Given the description of an element on the screen output the (x, y) to click on. 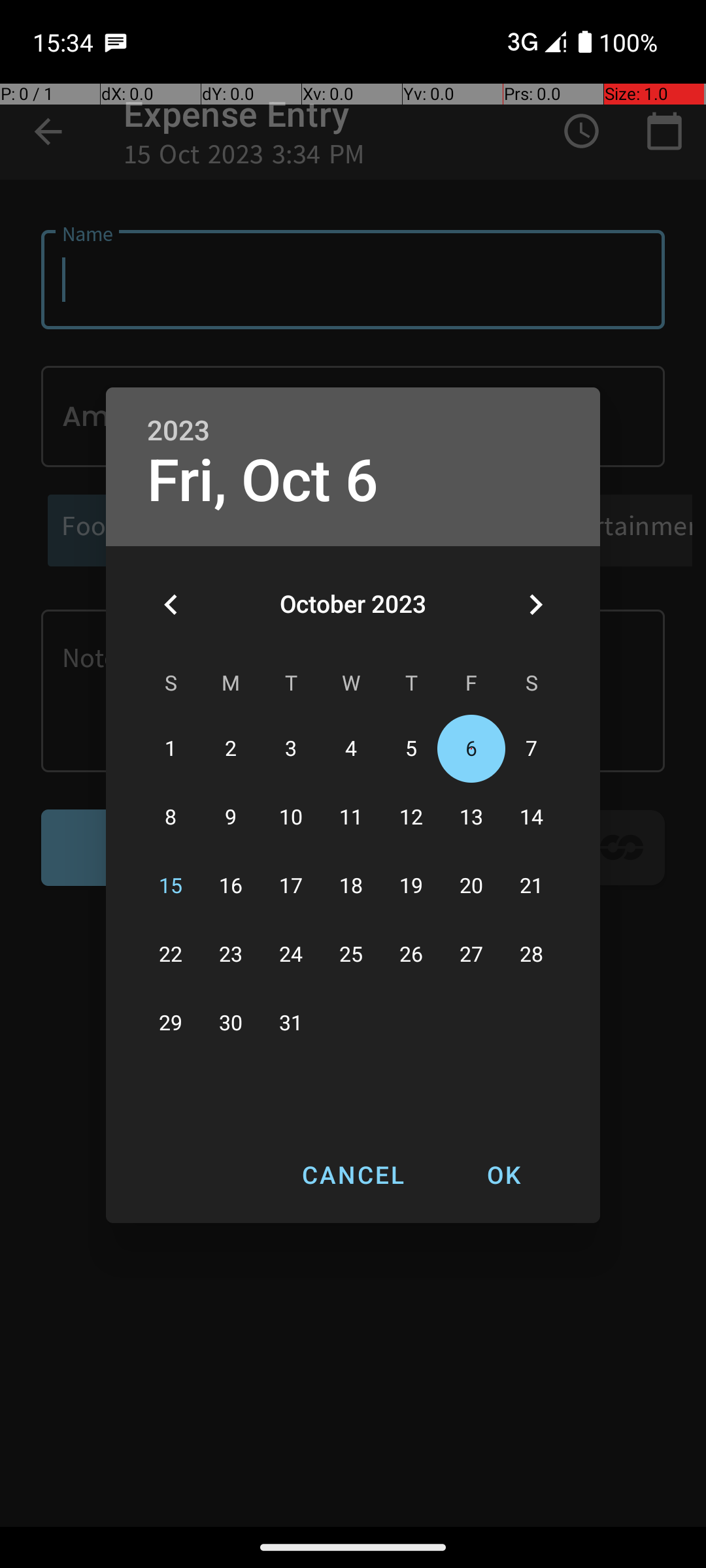
Fri, Oct 6 Element type: android.widget.TextView (262, 480)
